Given the description of an element on the screen output the (x, y) to click on. 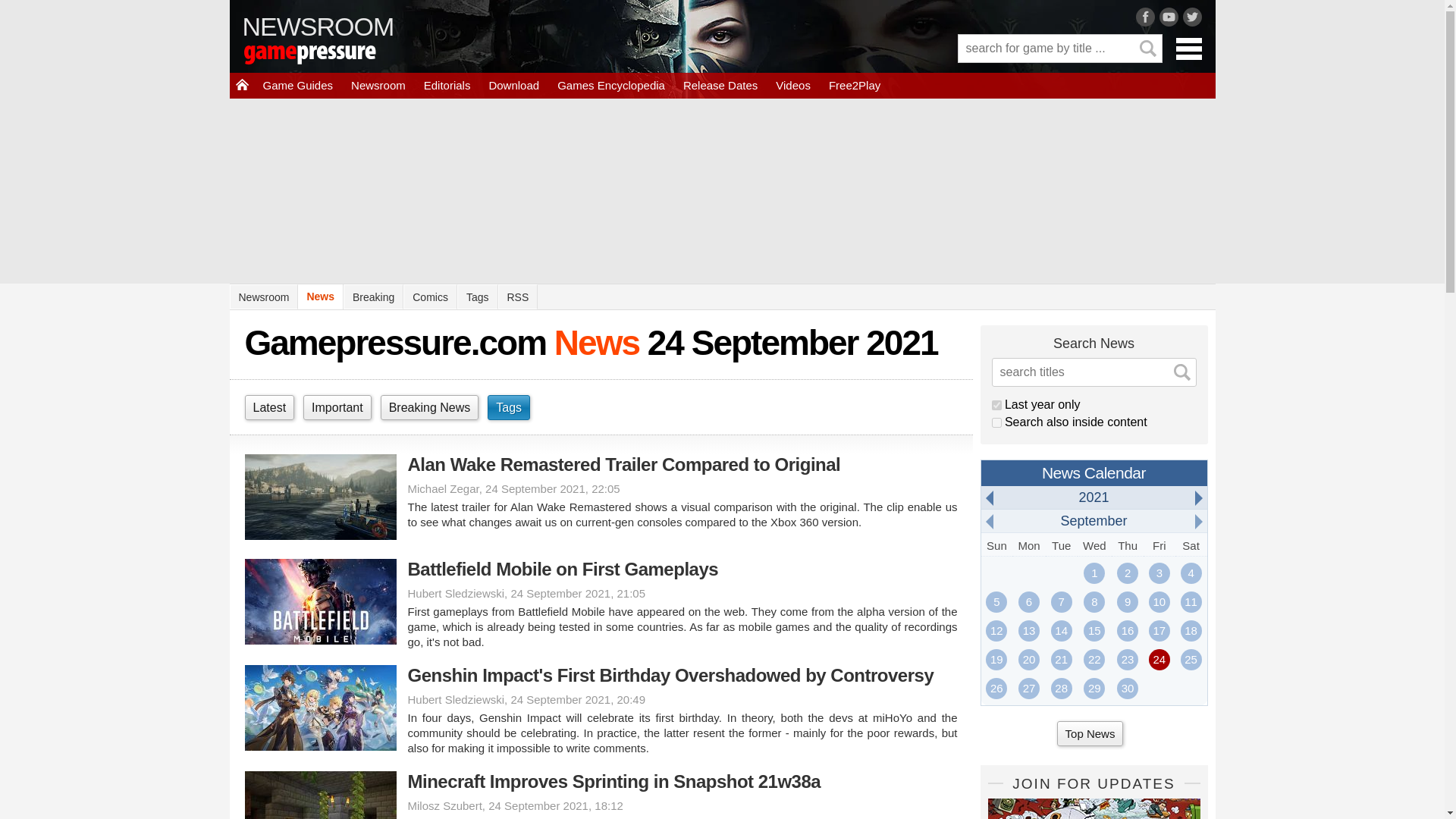
gamepressure.com (331, 55)
Newsroom (263, 296)
1 (996, 422)
Game Guides (297, 85)
Comics (430, 296)
Download (513, 85)
Alan Wake Remastered Trailer Compared to Original (600, 464)
Games Encyclopedia (611, 85)
Free2Play (854, 85)
Latest (269, 407)
